Given the description of an element on the screen output the (x, y) to click on. 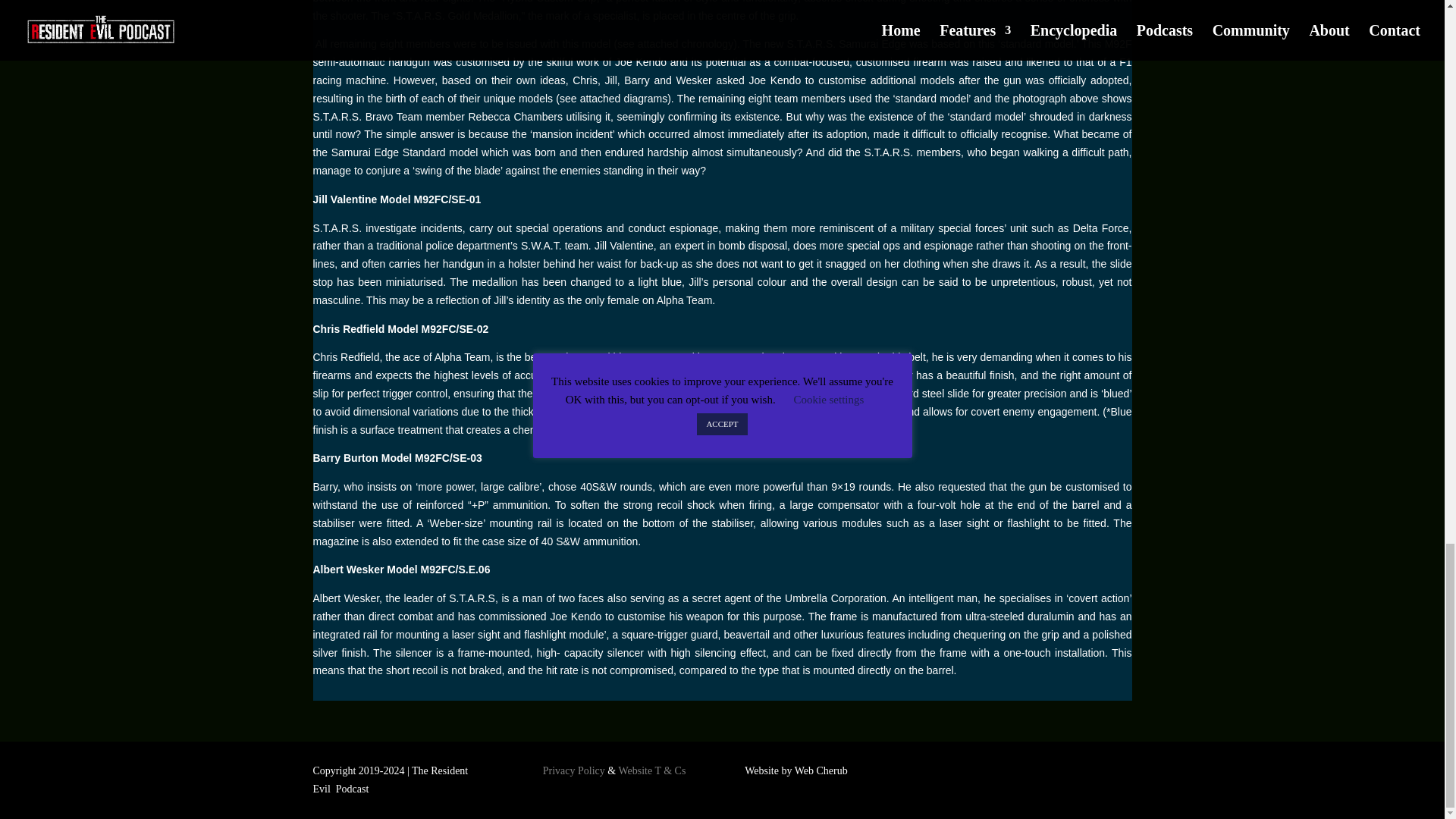
Patreon (1087, 774)
Email (1136, 774)
Web Cherub (820, 770)
YouTube (1063, 774)
Facebook (990, 774)
Privacy Policy (574, 770)
Instagram (1038, 774)
Web Cherub (820, 770)
Twitter (1014, 774)
Discord (1111, 774)
